Given the description of an element on the screen output the (x, y) to click on. 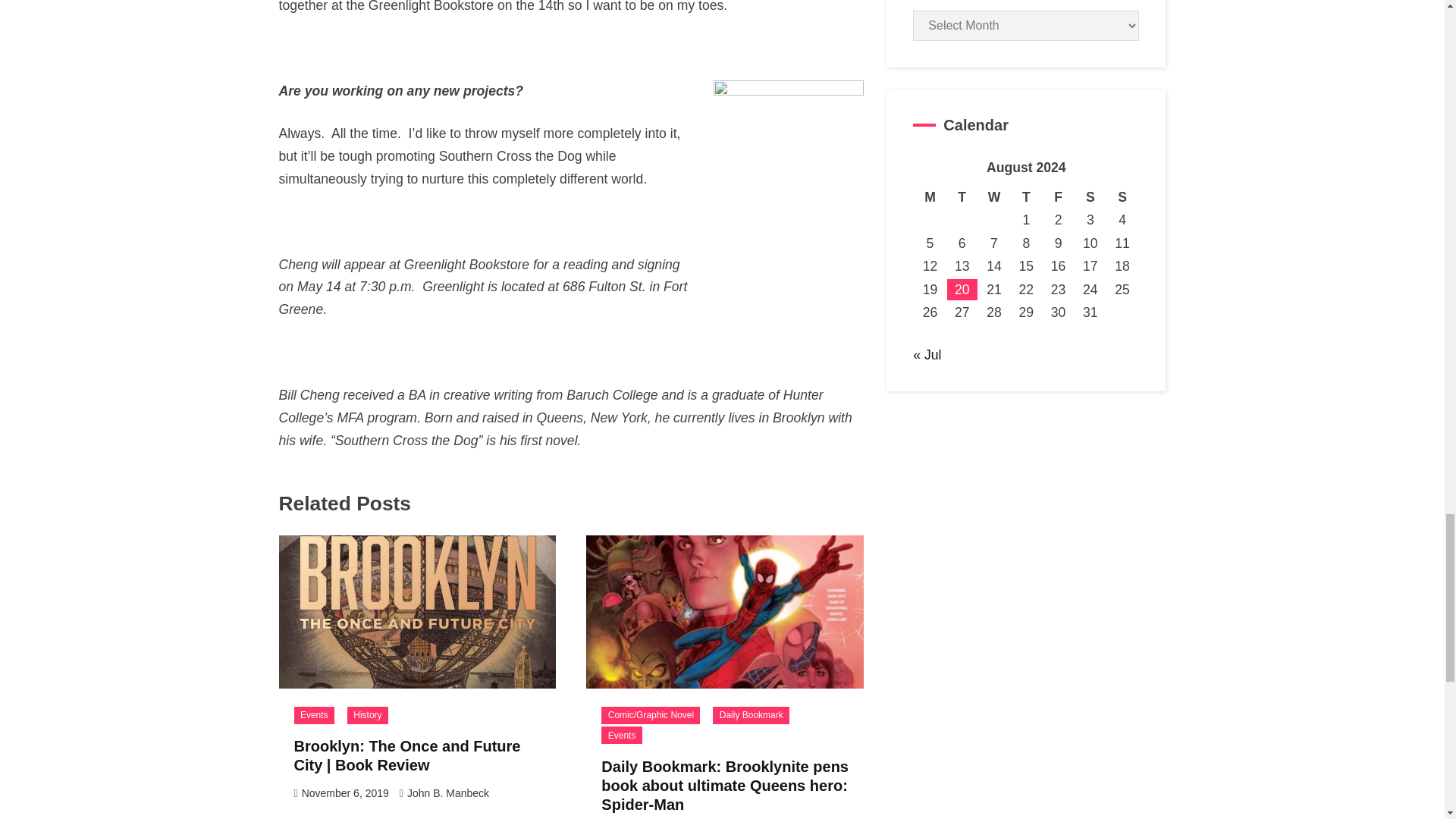
History (367, 714)
Events (621, 734)
Daily Bookmark (751, 714)
John B. Manbeck (448, 793)
Events (314, 714)
November 6, 2019 (344, 793)
